Given the description of an element on the screen output the (x, y) to click on. 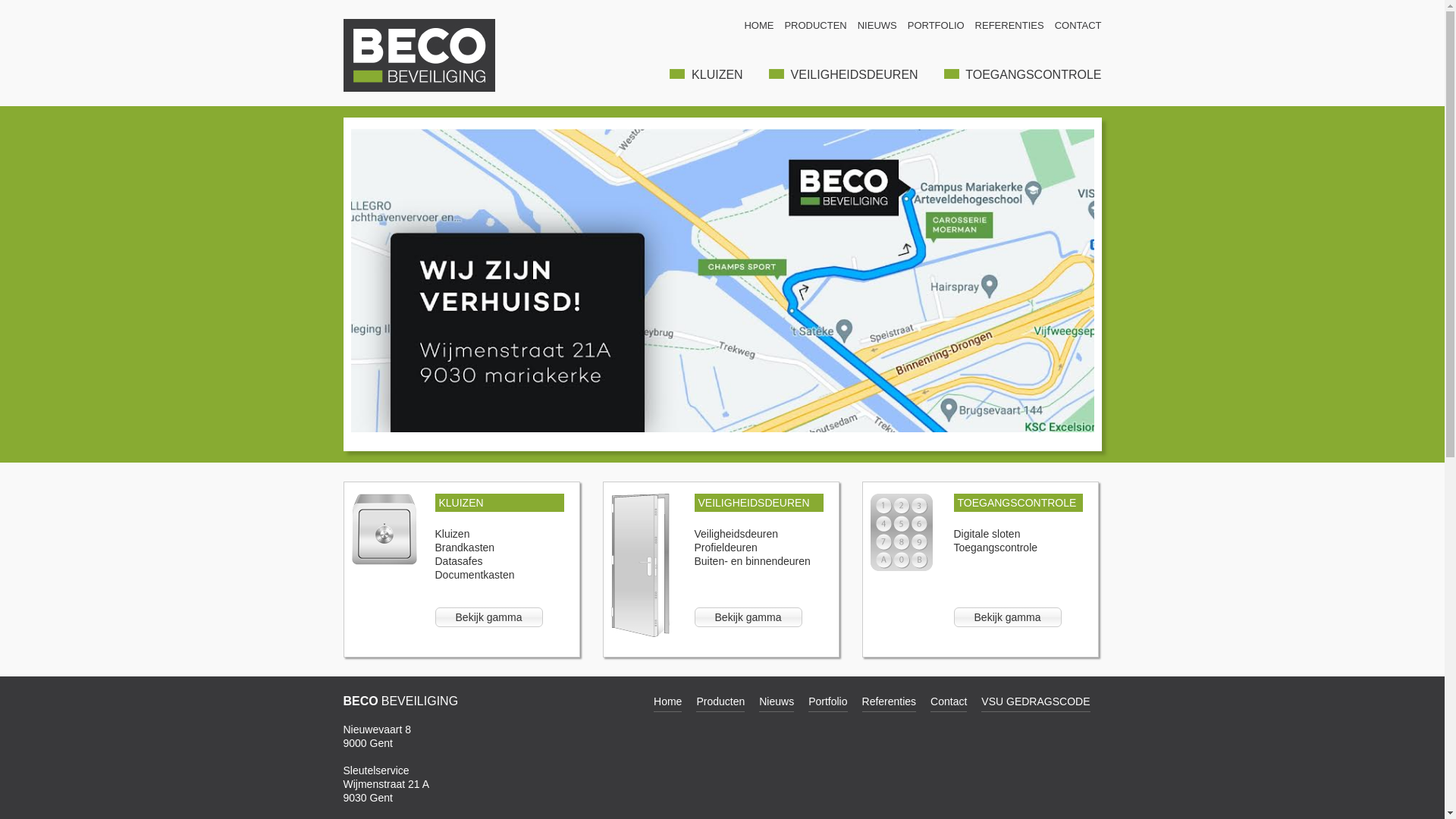
NIEUWS Element type: text (877, 25)
CONTACT Element type: text (1077, 25)
VSU GEDRAGSCODE Element type: text (1035, 703)
Home Element type: text (667, 703)
Bekijk gamma Element type: text (748, 617)
  VEILIGHEIDSDEUREN Element type: text (843, 74)
KLUIZEN Element type: text (499, 502)
TOEGANGSCONTROLE Element type: text (1017, 502)
Referenties Element type: text (889, 703)
Contact Element type: text (948, 703)
HOME Element type: text (758, 25)
Portfolio Element type: text (827, 703)
  TOEGANGSCONTROLE Element type: text (1022, 74)
PRODUCTEN Element type: text (815, 25)
Producten Element type: text (720, 703)
  KLUIZEN Element type: text (705, 74)
VEILIGHEIDSDEUREN Element type: text (758, 502)
REFERENTIES Element type: text (1009, 25)
Nieuws Element type: text (776, 703)
PORTFOLIO Element type: text (935, 25)
Bekijk gamma Element type: text (488, 617)
Bekijk gamma Element type: text (1007, 617)
